Given the description of an element on the screen output the (x, y) to click on. 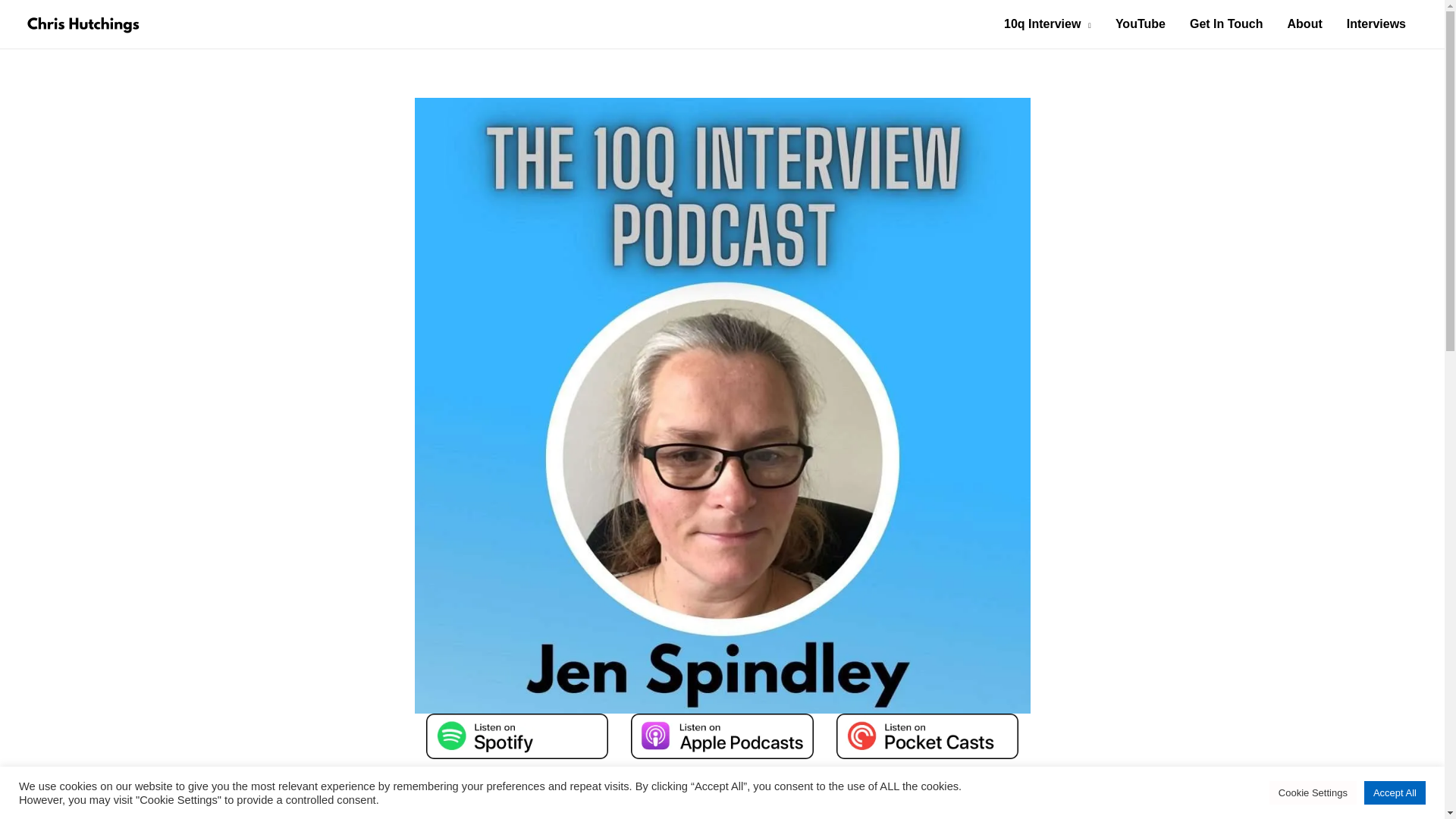
Accept All (1394, 792)
10q Interview (1047, 24)
Cookie Settings (1312, 792)
About (1305, 24)
Get In Touch (1226, 24)
Interviews (1376, 24)
YouTube (1140, 24)
